Given the description of an element on the screen output the (x, y) to click on. 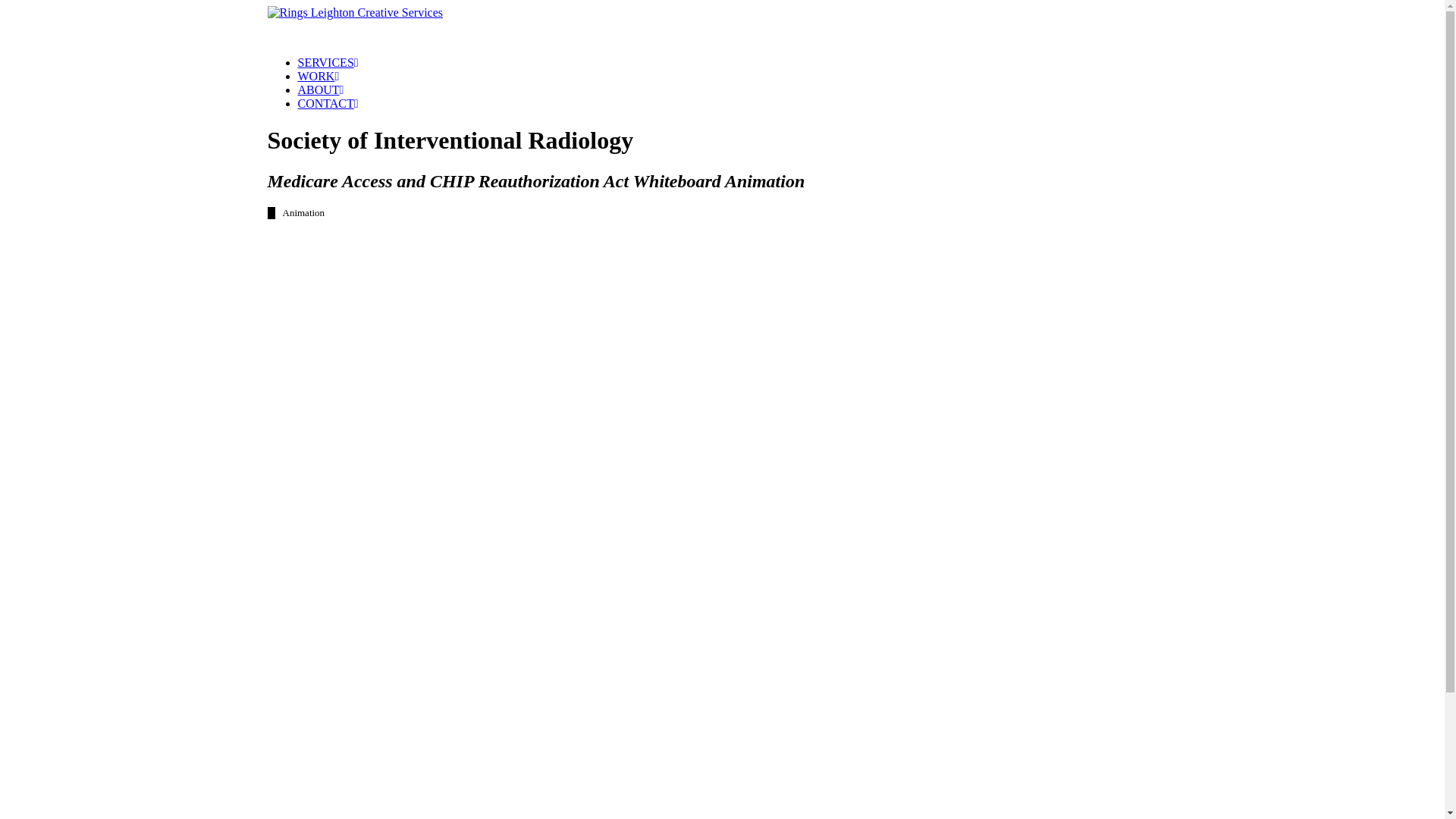
ABOUT Element type: text (320, 89)
SERVICES Element type: text (327, 62)
WORK Element type: text (317, 75)
CONTACT Element type: text (327, 103)
